Given the description of an element on the screen output the (x, y) to click on. 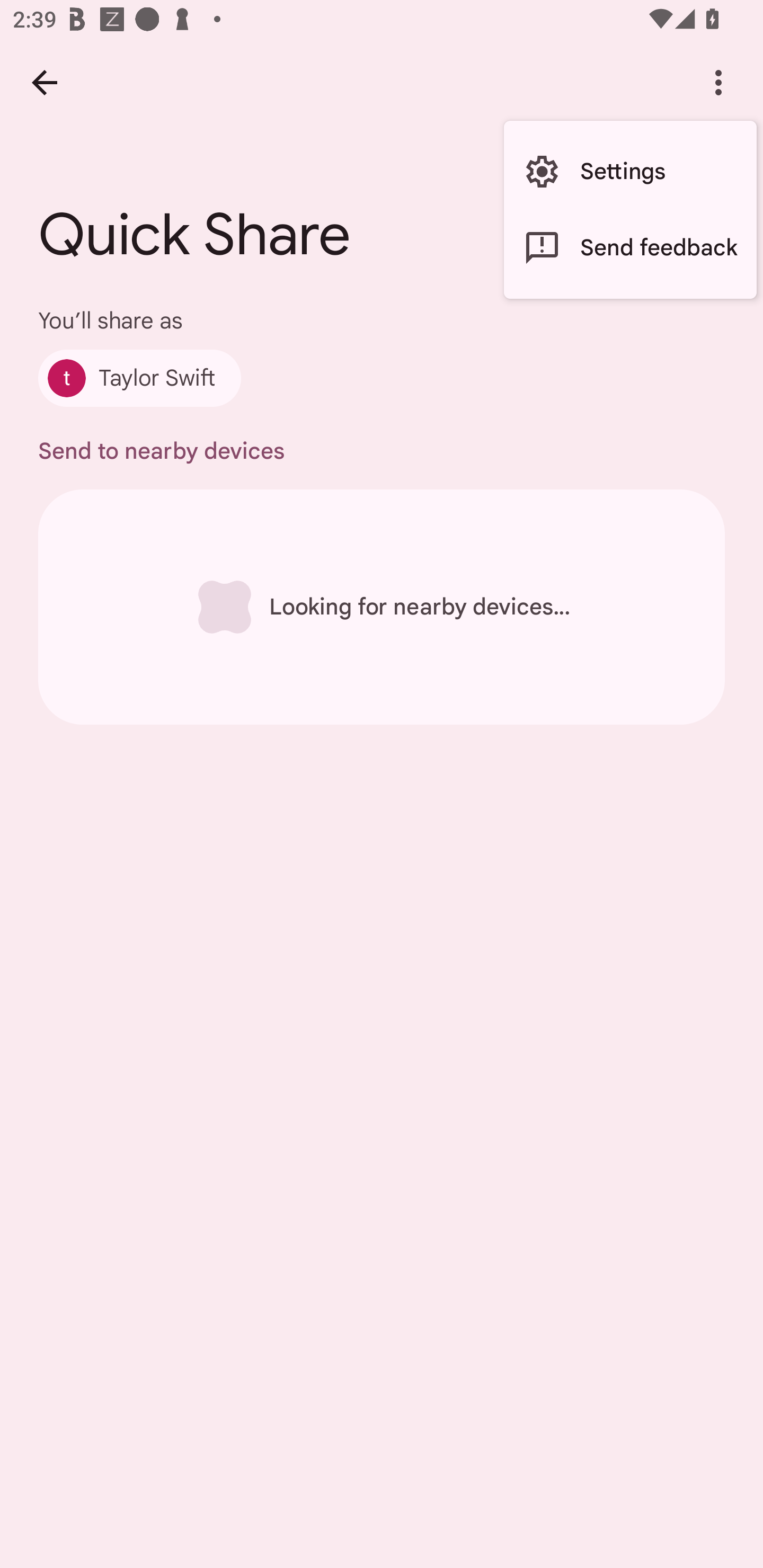
Settings (629, 171)
Send feedback (629, 247)
